Given the description of an element on the screen output the (x, y) to click on. 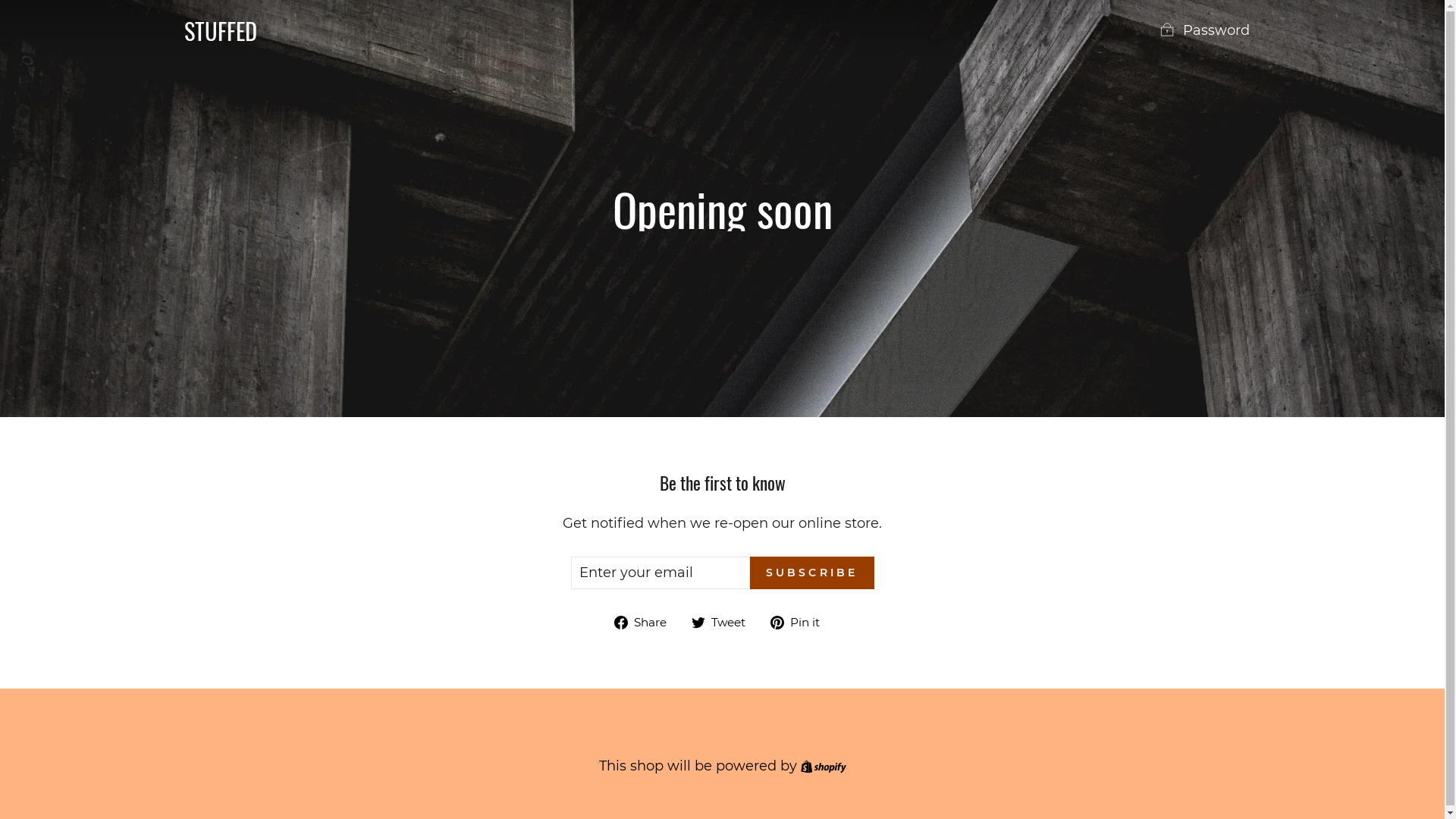
Pin it
Pin on Pinterest Element type: text (800, 620)
Skip to content Element type: text (0, 0)
Share
Share on Facebook Element type: text (645, 620)
SUBSCRIBE Element type: text (811, 572)
Shopify Element type: text (823, 765)
Tweet
Tweet on Twitter Element type: text (723, 620)
